Given the description of an element on the screen output the (x, y) to click on. 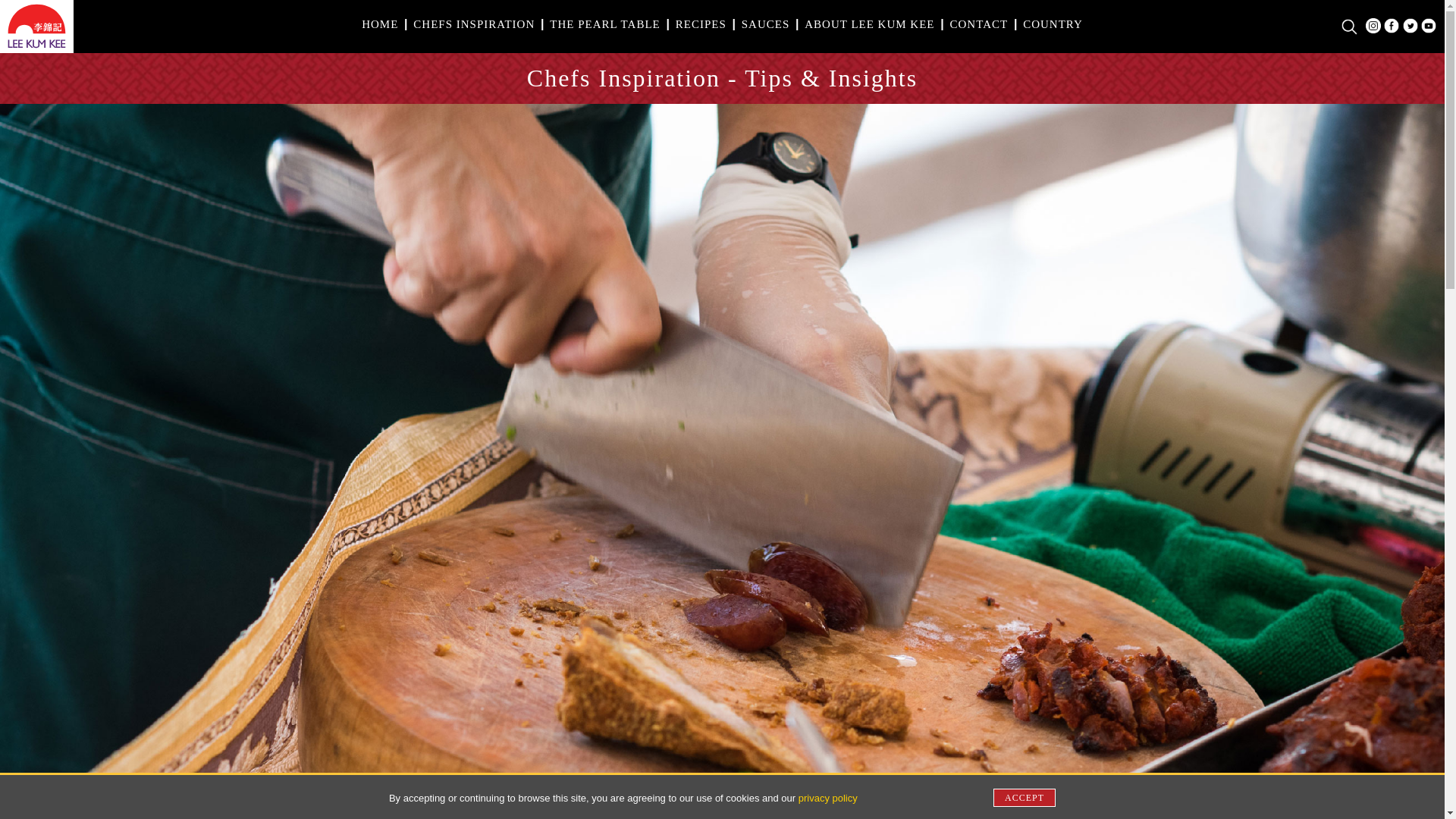
THE PEARL TABLE (604, 24)
HOME (379, 24)
RECIPES (700, 24)
LEE KUM KEE (36, 47)
RECIPES (700, 24)
HOME (379, 24)
CHEFS INSPIRATION (473, 24)
CHEFS INSPIRATION (473, 24)
THE PEARL TABLE (604, 24)
